Given the description of an element on the screen output the (x, y) to click on. 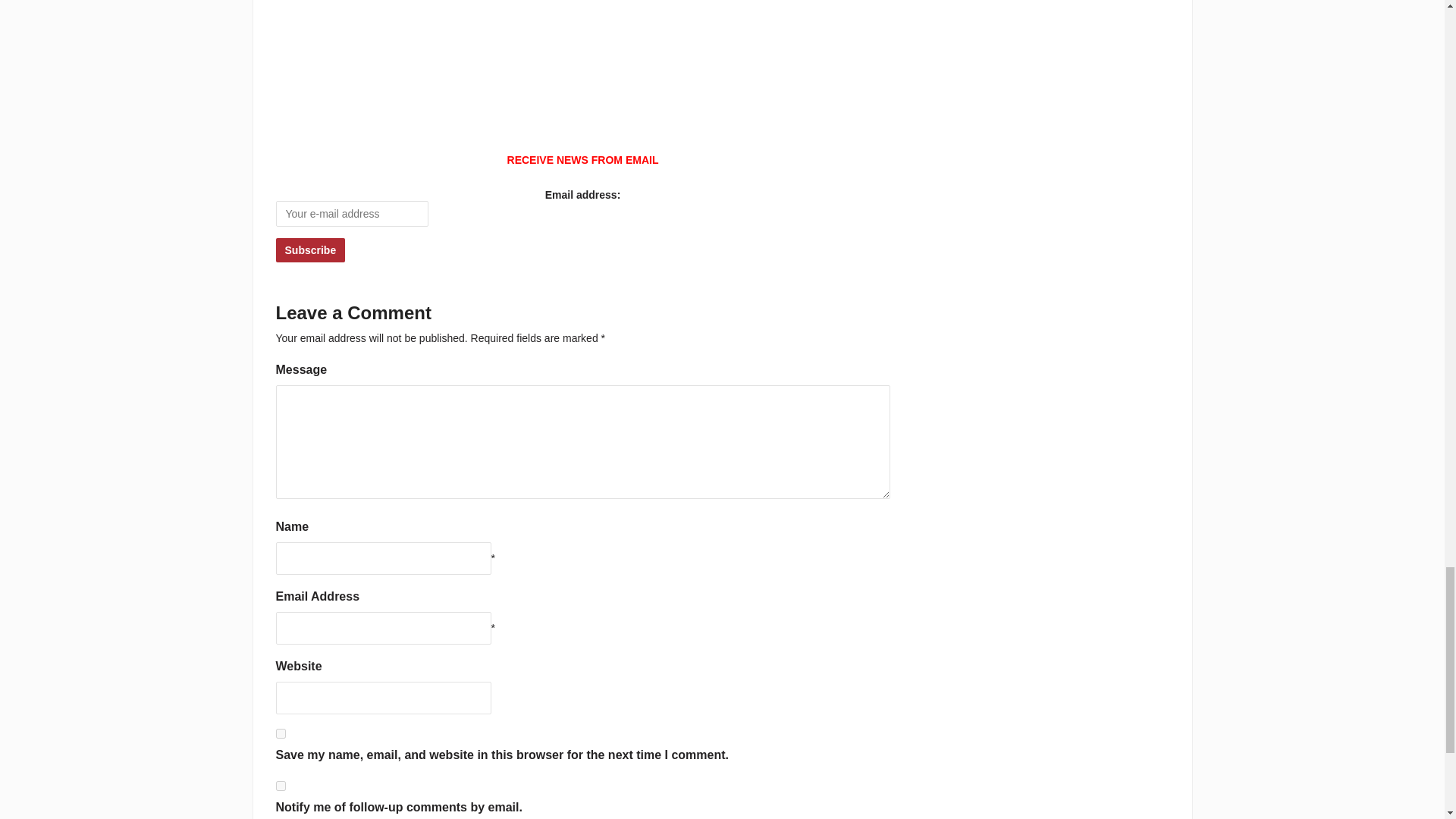
Subscribe (311, 250)
yes (280, 733)
subscribe (280, 786)
